Given the description of an element on the screen output the (x, y) to click on. 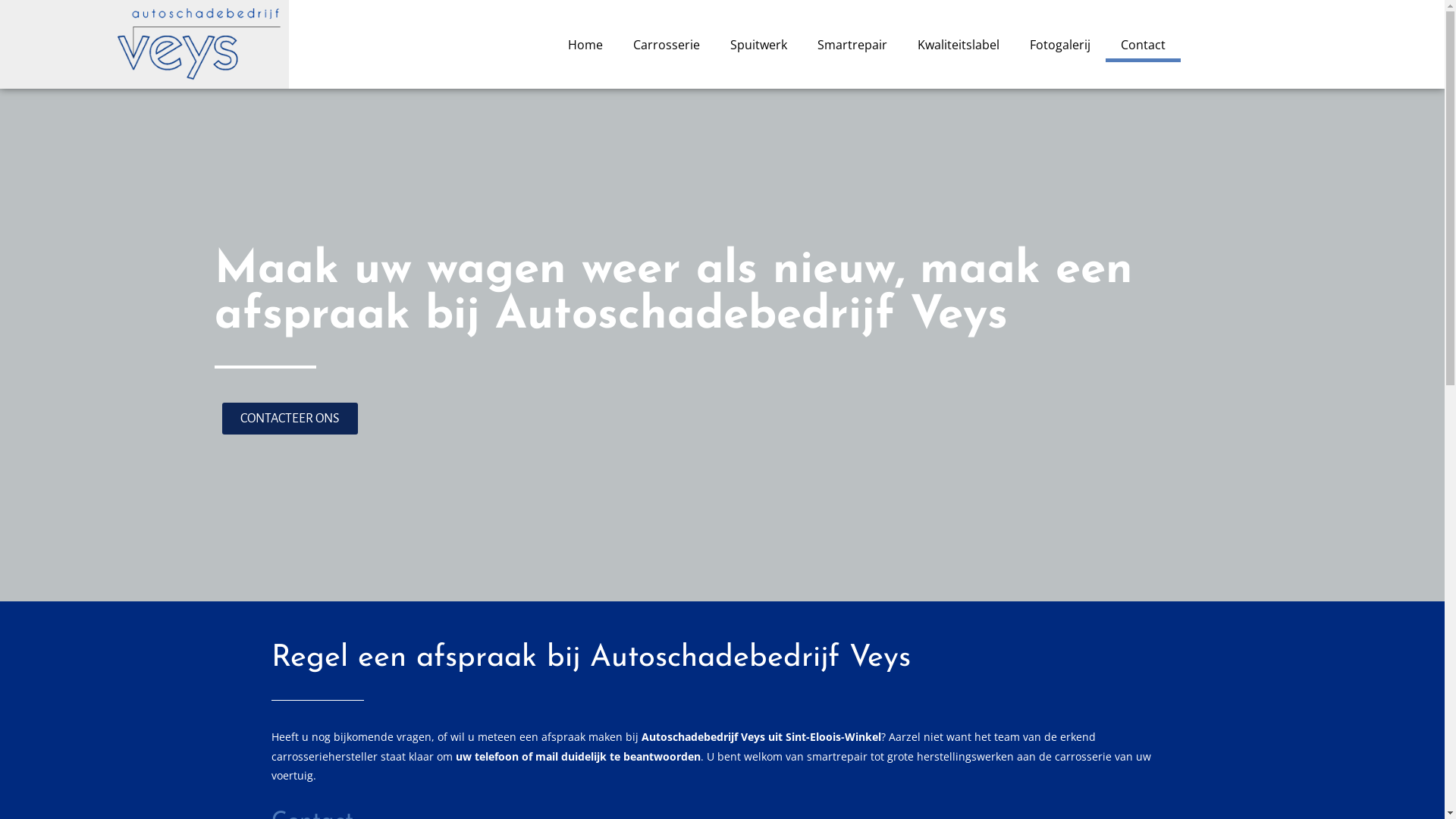
Kwaliteitslabel Element type: text (958, 44)
Home Element type: text (585, 44)
CONTACTEER ONS Element type: text (289, 418)
Fotogalerij Element type: text (1059, 44)
Contact Element type: text (1142, 44)
Smartrepair Element type: text (852, 44)
Carrosserie Element type: text (666, 44)
Spuitwerk Element type: text (758, 44)
